Given the description of an element on the screen output the (x, y) to click on. 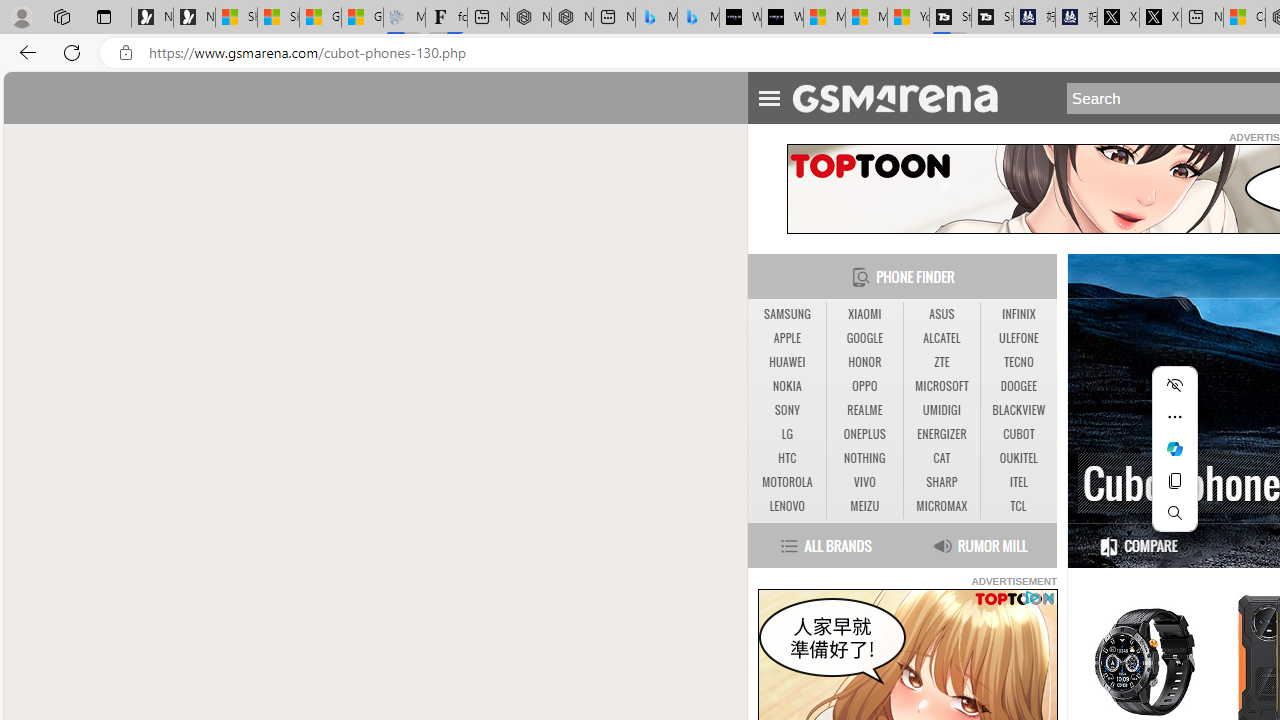
Mini menu on text selection (1174, 460)
VIVO (863, 482)
CUBOT (1018, 434)
Toggle Navigation (768, 95)
CAT (941, 458)
SAMSUNG (786, 313)
MOTOROLA (786, 482)
GOOGLE (863, 338)
ASUS (941, 313)
